Given the description of an element on the screen output the (x, y) to click on. 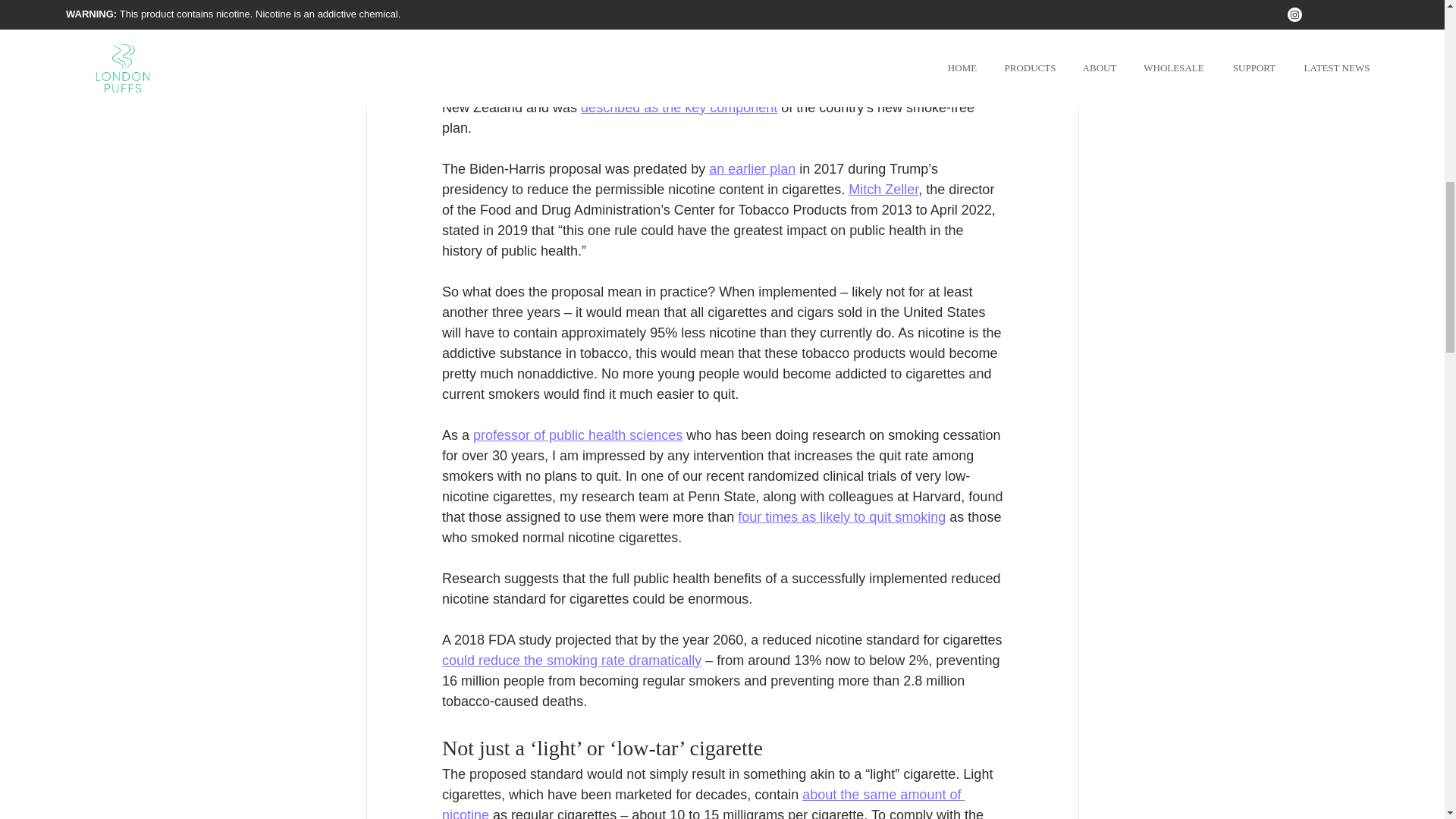
professor of public health sciences (577, 435)
announced a plan (585, 46)
an earlier plan (751, 168)
Mitch Zeller (883, 189)
about the same amount of nicotine (702, 803)
could reduce the smoking rate dramatically (570, 660)
described as the key component (678, 107)
four times as likely to quit smoking (841, 516)
